Given the description of an element on the screen output the (x, y) to click on. 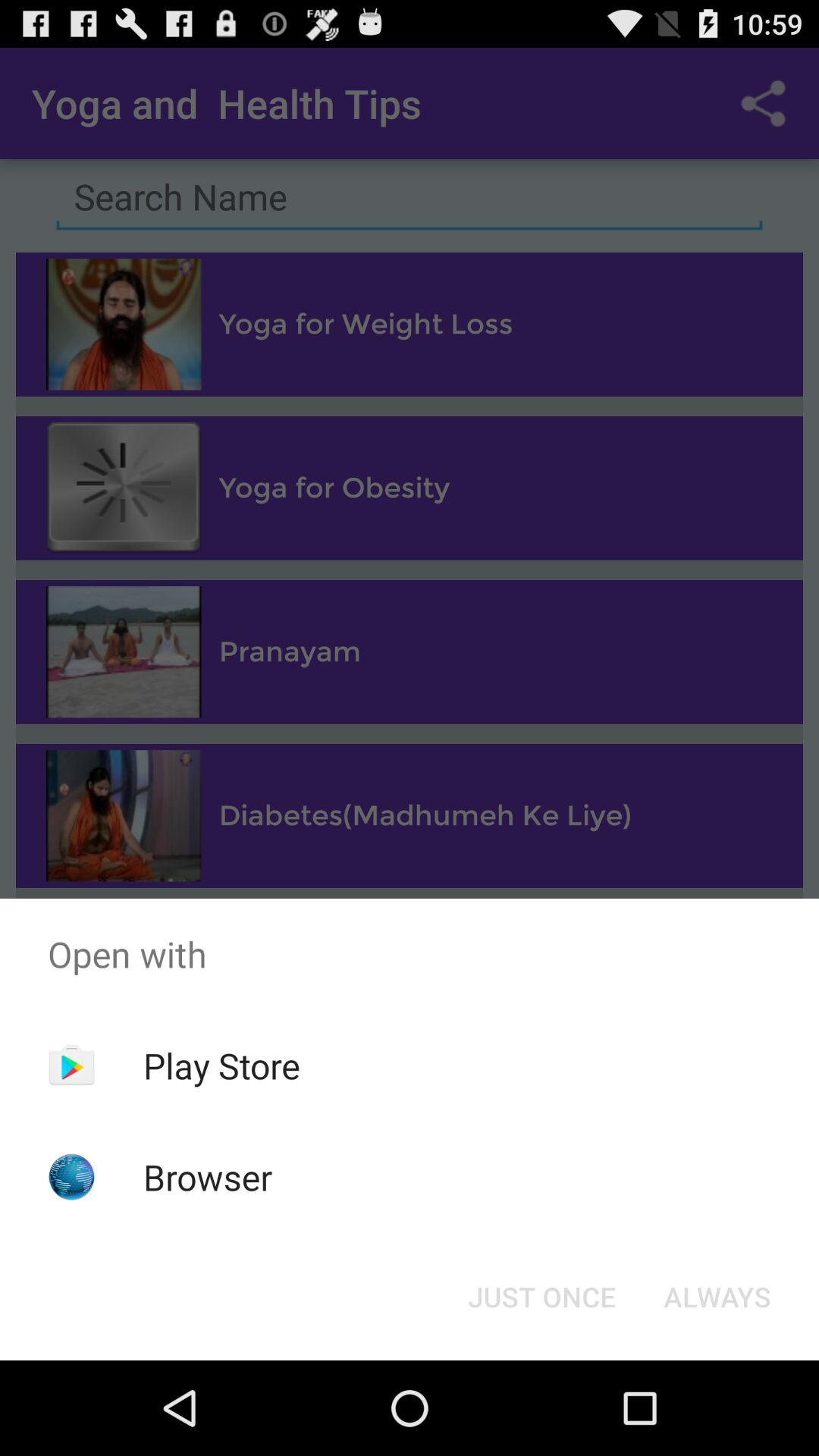
open item above browser item (221, 1065)
